Given the description of an element on the screen output the (x, y) to click on. 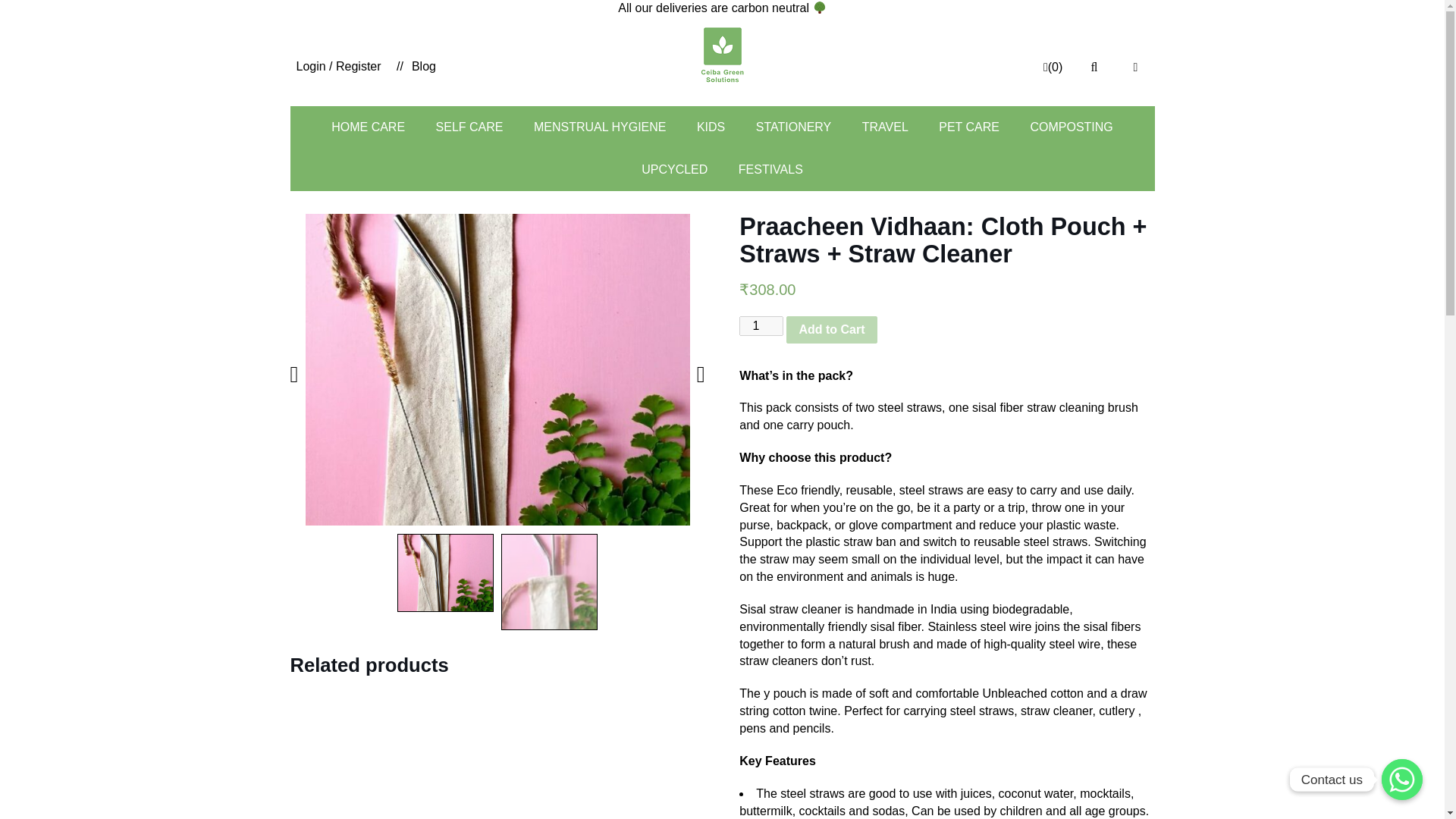
Blog (416, 66)
1 (761, 325)
Qty (761, 325)
